Given the description of an element on the screen output the (x, y) to click on. 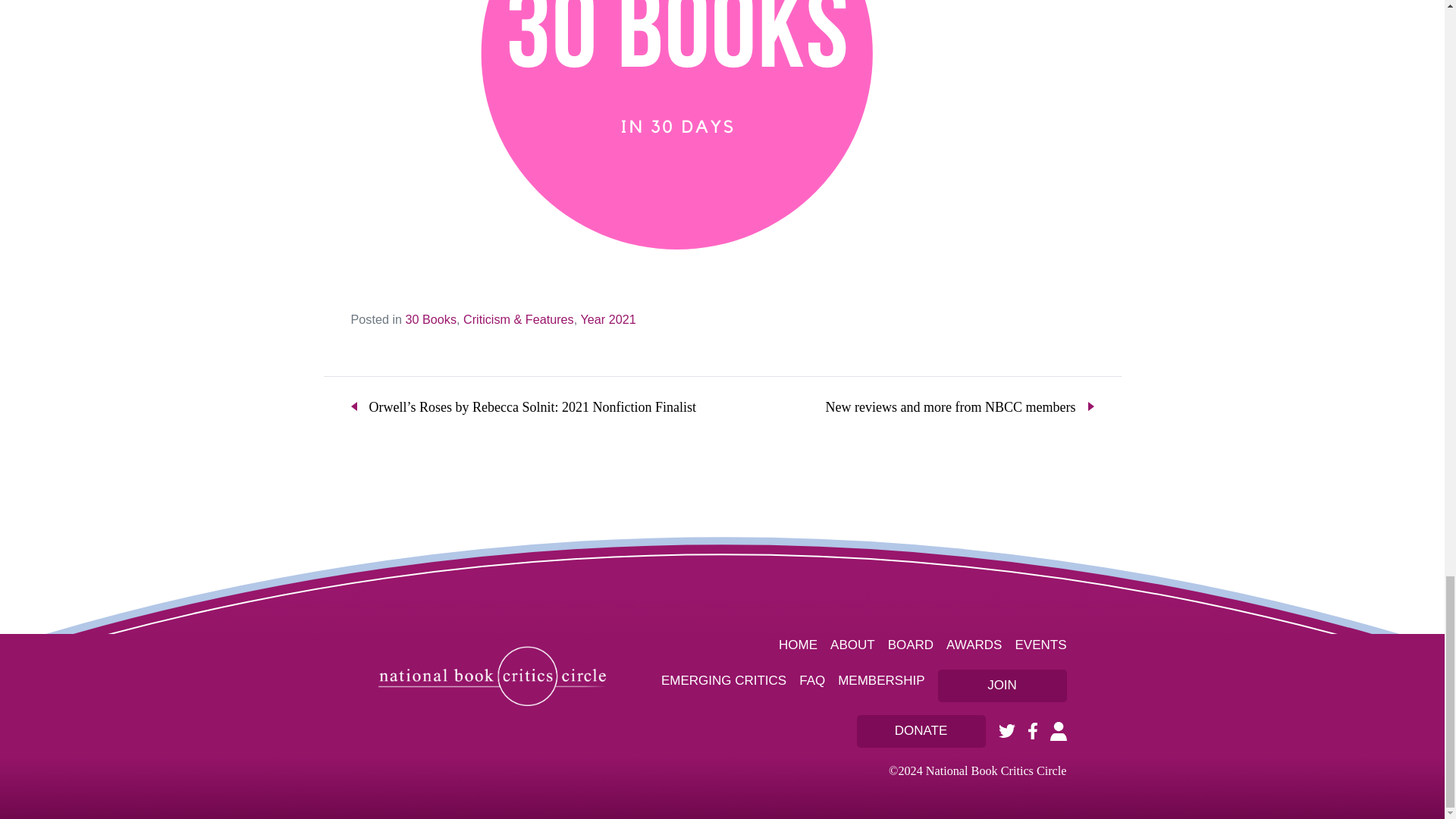
30 Books (430, 318)
